Given the description of an element on the screen output the (x, y) to click on. 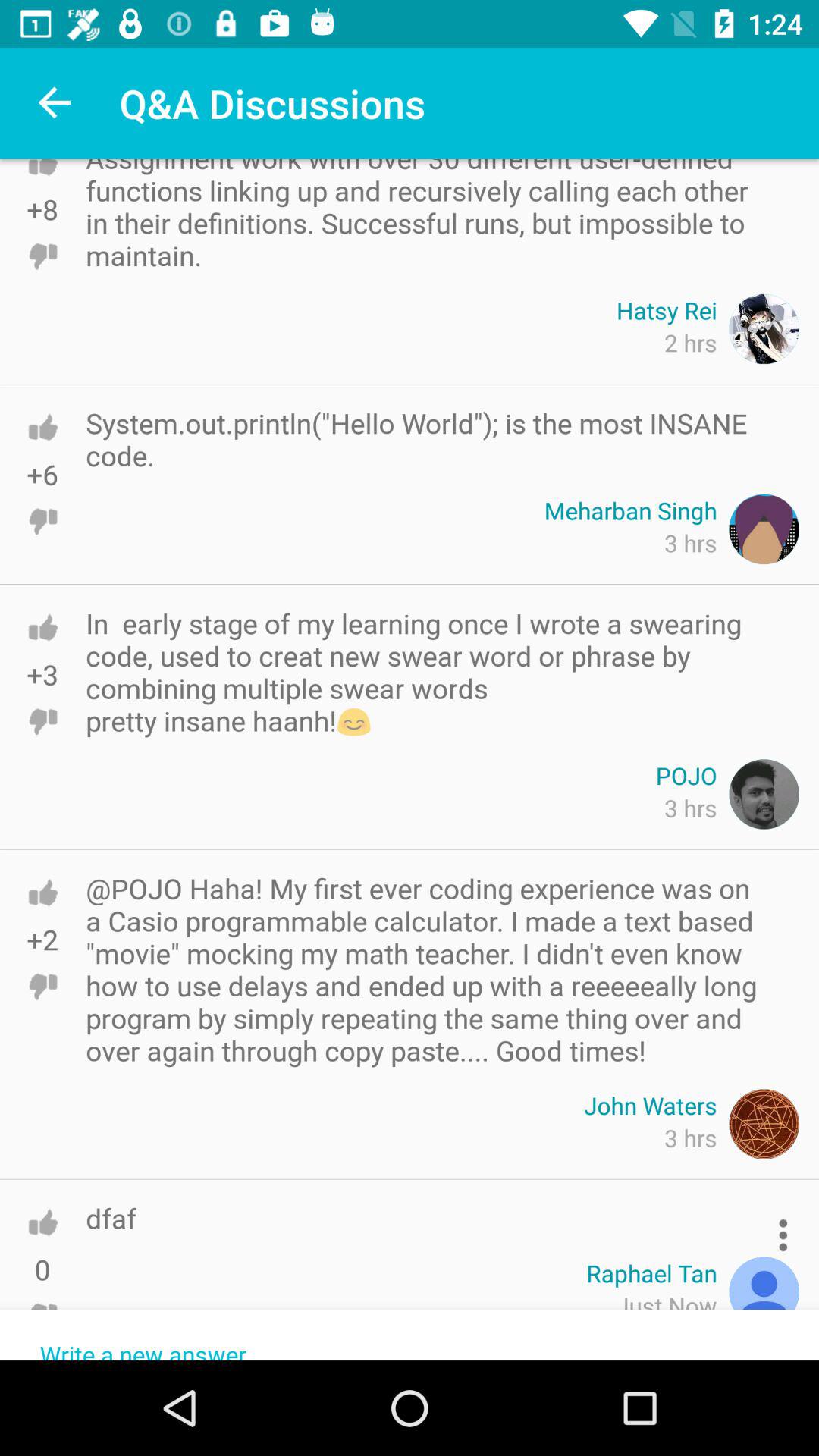
dislike displayed answer (42, 256)
